Given the description of an element on the screen output the (x, y) to click on. 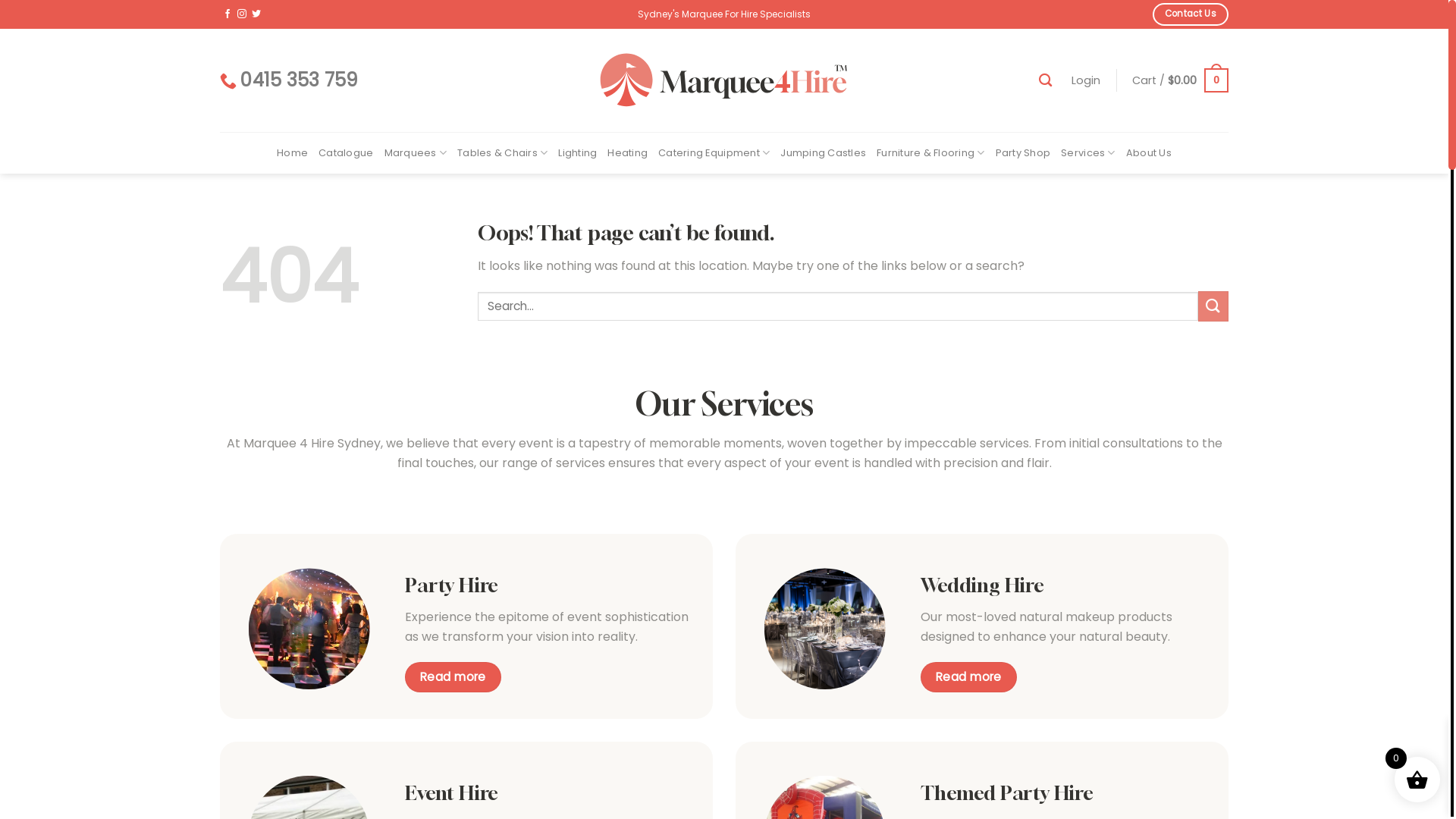
Read more Element type: text (452, 676)
Follow on Facebook Element type: hover (227, 14)
Heating Element type: text (627, 152)
Tables & Chairs Element type: text (502, 152)
About Us Element type: text (1148, 152)
Lighting Element type: text (577, 152)
Follow on Twitter Element type: hover (255, 14)
Furniture & Flooring Element type: text (930, 152)
Marquee 4 Hire - Sydney's Marquee for Hire Specialist Element type: hover (723, 79)
Contact Us Element type: text (1190, 14)
Party Shop Element type: text (1023, 152)
Follow on Instagram Element type: hover (241, 14)
Catering Equipment Element type: text (713, 152)
Cart / $0.00
0 Element type: text (1180, 80)
Home Element type: text (291, 152)
Login Element type: text (1085, 80)
Read more Element type: text (968, 676)
Services Element type: text (1087, 152)
Marquees Element type: text (415, 152)
Catalogue Element type: text (345, 152)
0415 353 759 Element type: text (288, 79)
Jumping Castles Element type: text (823, 152)
